Given the description of an element on the screen output the (x, y) to click on. 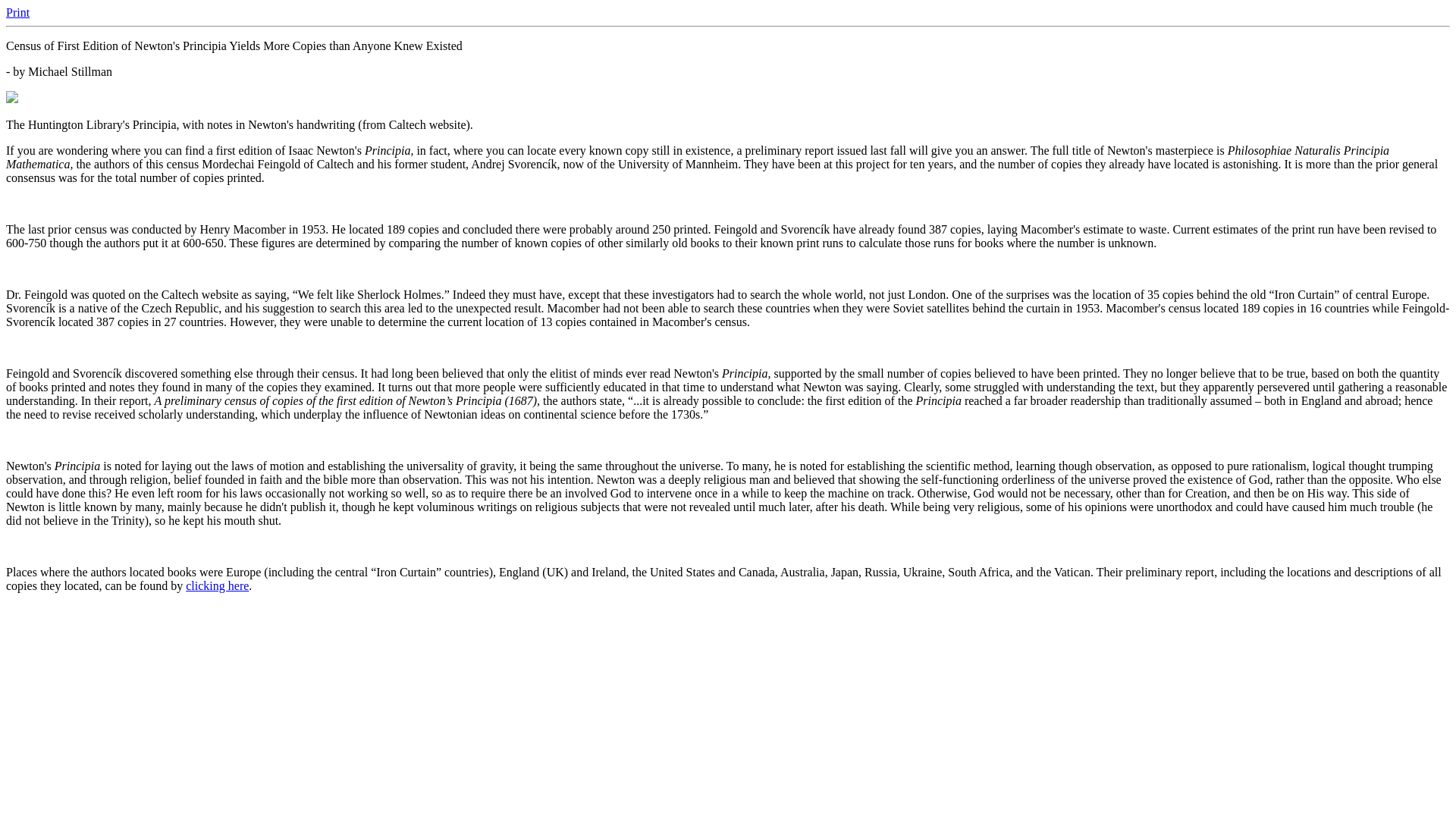
Print (17, 11)
